Given the description of an element on the screen output the (x, y) to click on. 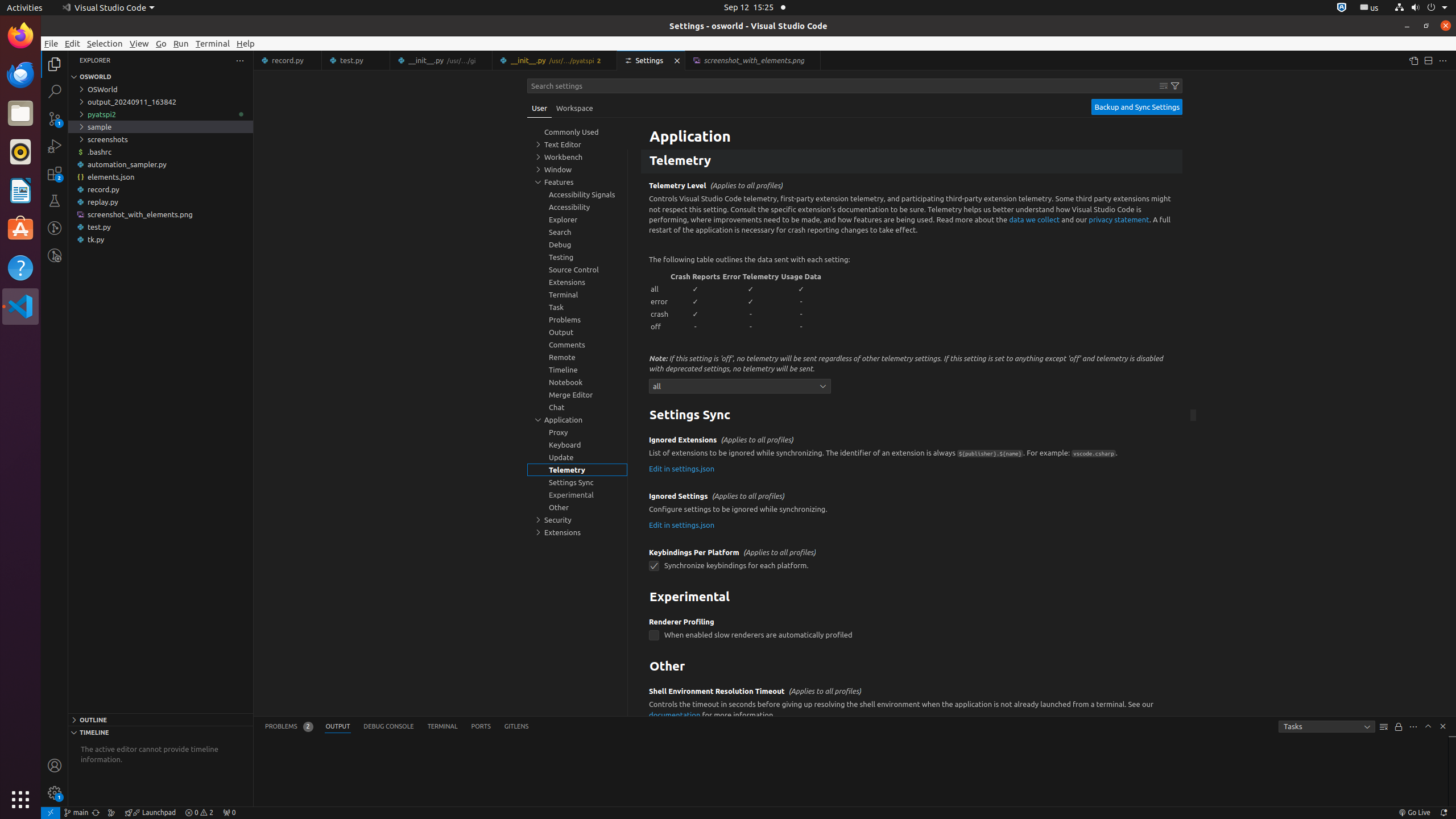
Accessibility Signals, group Element type: tree-item (577, 194)
Split Editor Down Element type: push-button (1427, 60)
Run Element type: push-button (181, 43)
Warnings: 2 Element type: push-button (199, 812)
